Given the description of an element on the screen output the (x, y) to click on. 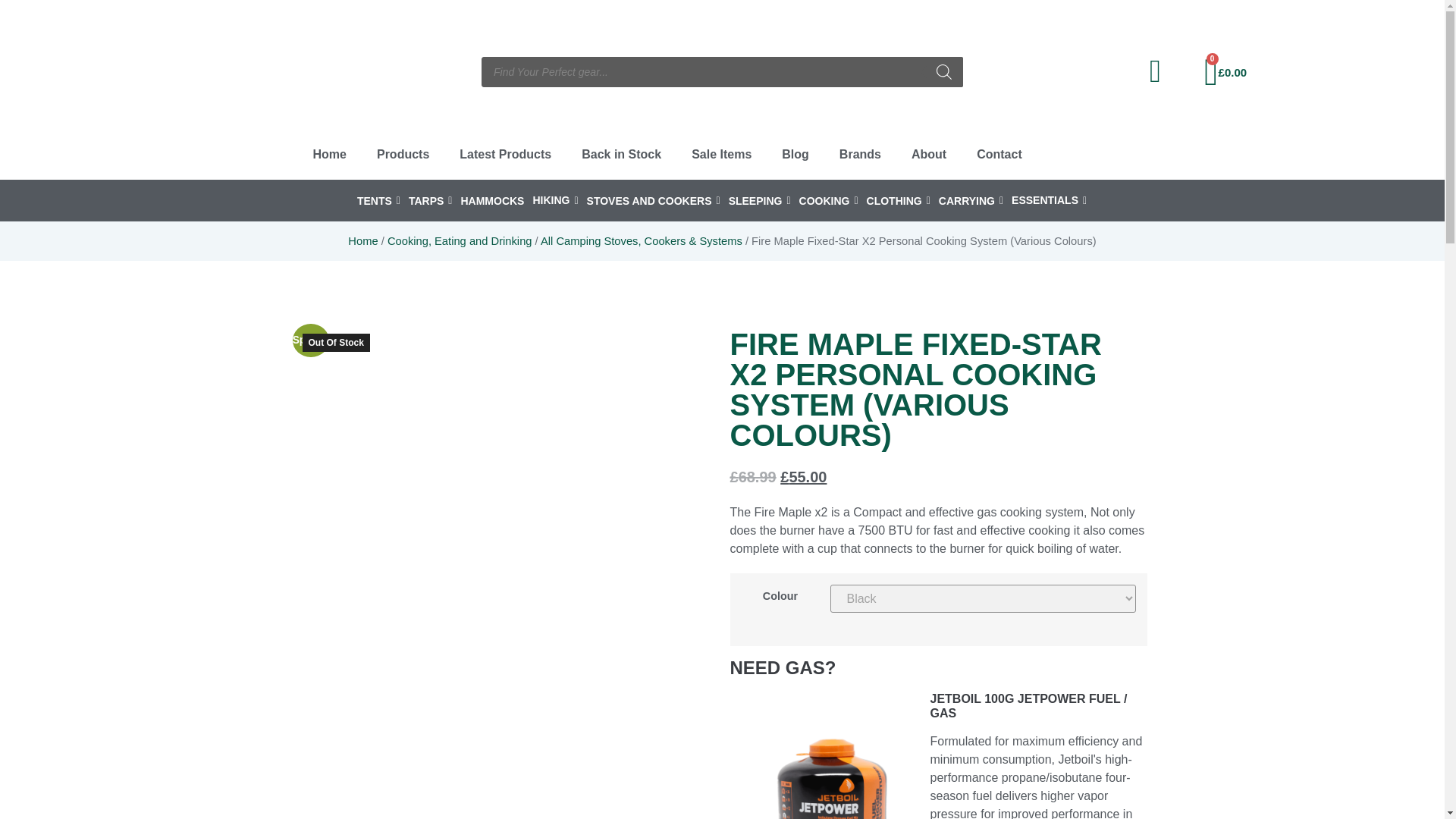
Home (329, 154)
Products (402, 154)
jetboil 100g gas (829, 755)
